Given the description of an element on the screen output the (x, y) to click on. 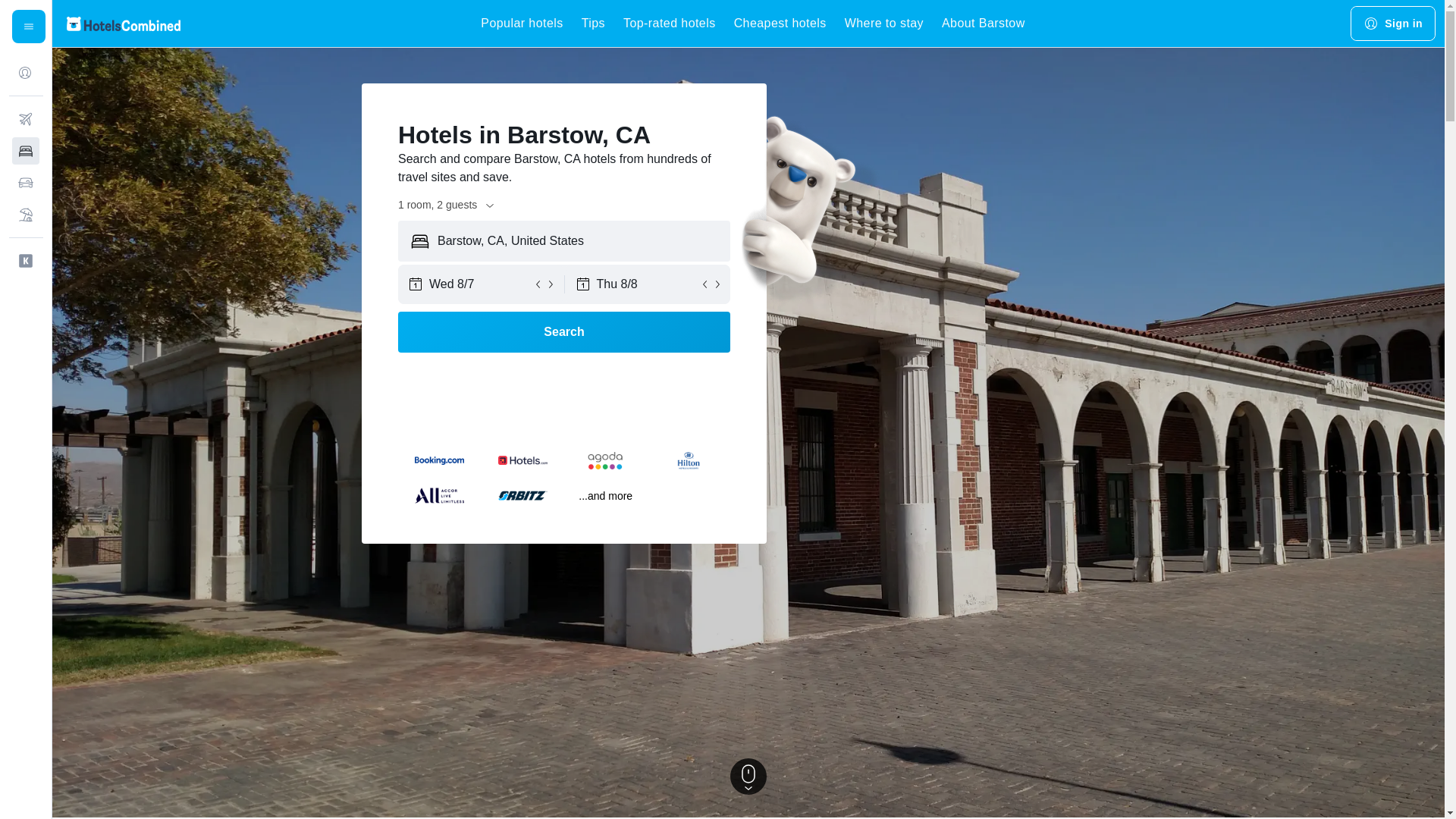
Search (563, 332)
Search (563, 332)
1 room, 2 guests (446, 205)
